Given the description of an element on the screen output the (x, y) to click on. 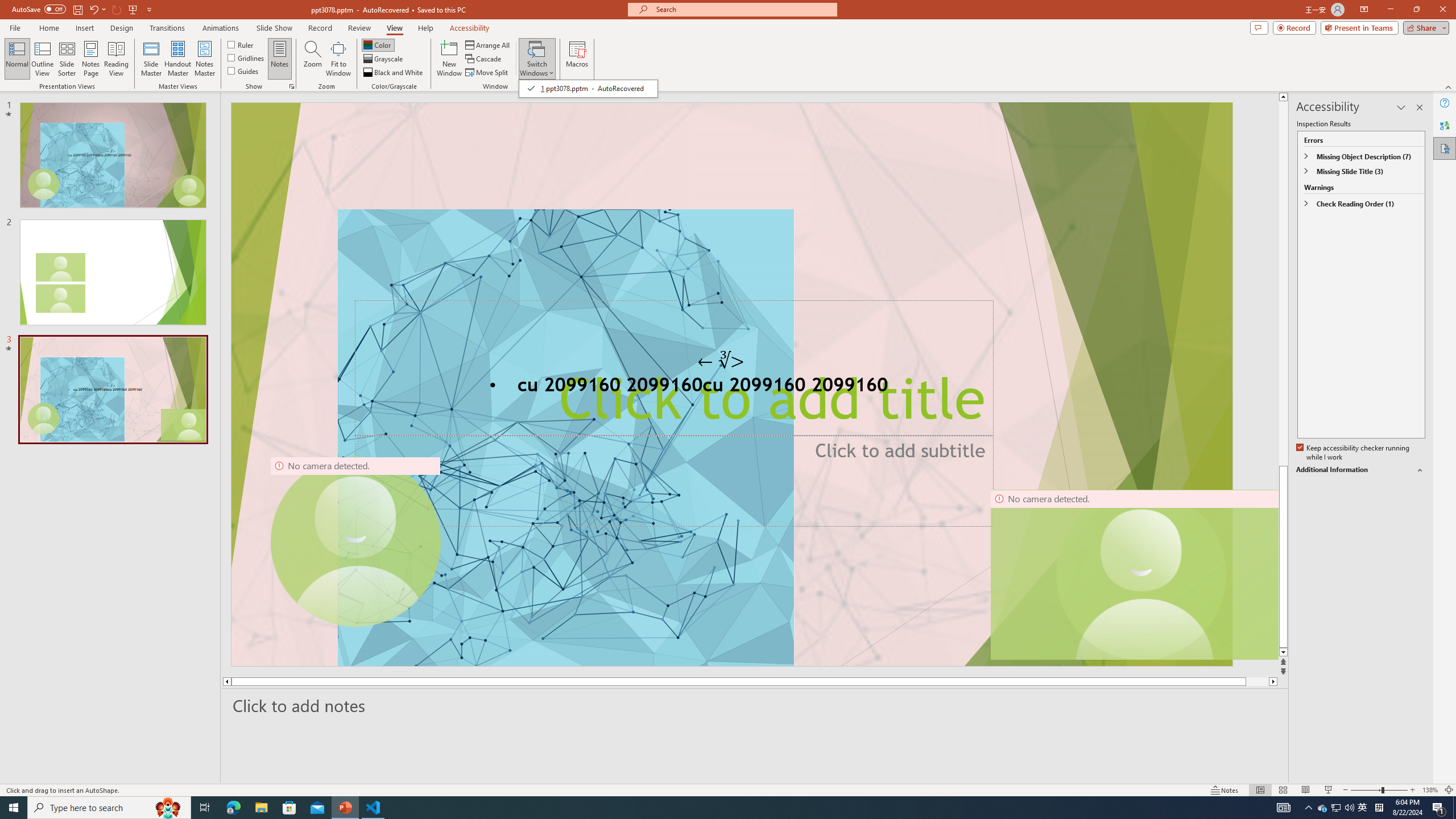
Macros (576, 58)
Fit to Window (338, 58)
Cascade (484, 58)
Slide Master (151, 58)
Ruler (241, 44)
Switch Windows (588, 88)
TextBox 61 (730, 386)
